Given the description of an element on the screen output the (x, y) to click on. 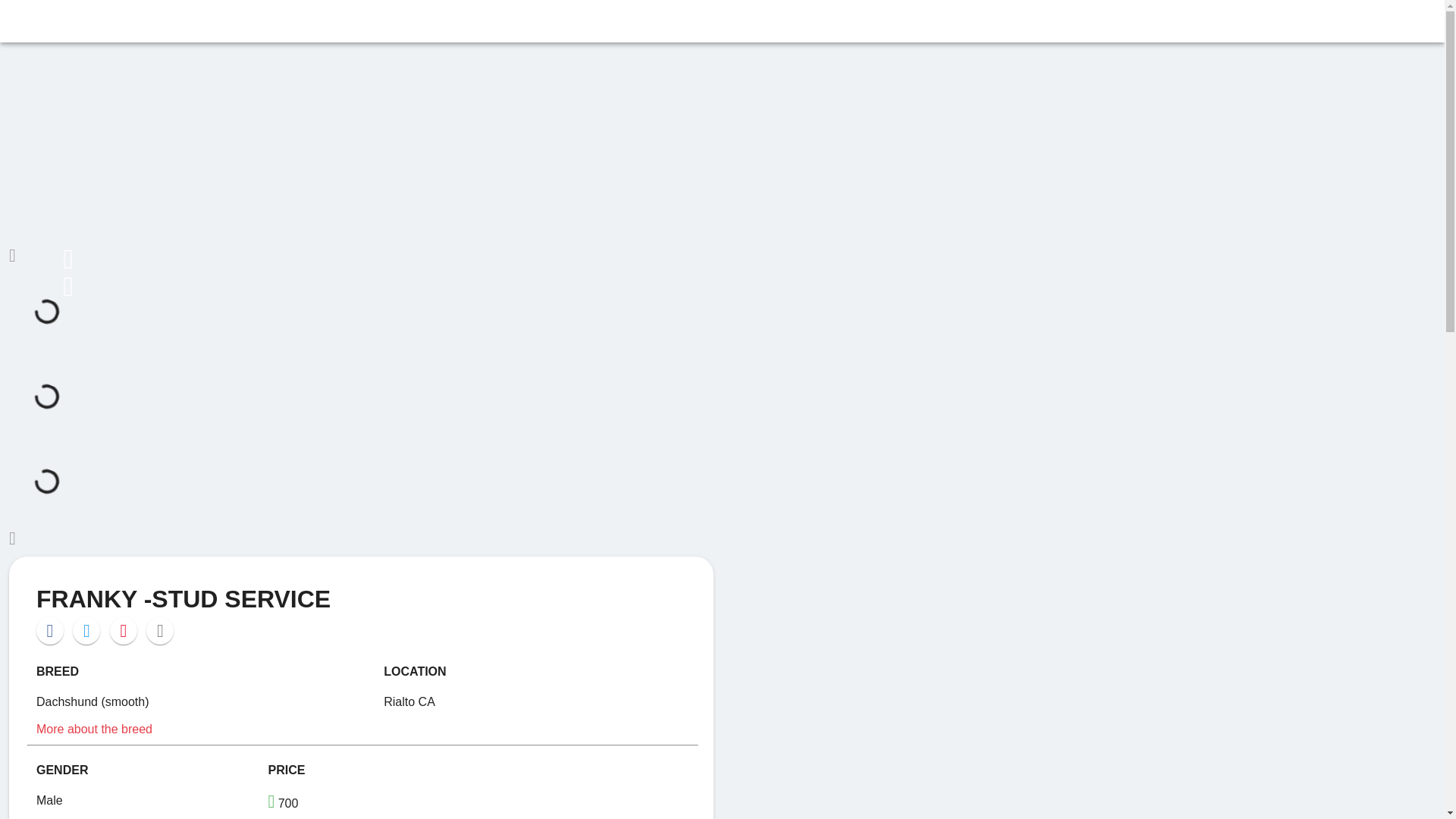
More about the breed (94, 728)
